Given the description of an element on the screen output the (x, y) to click on. 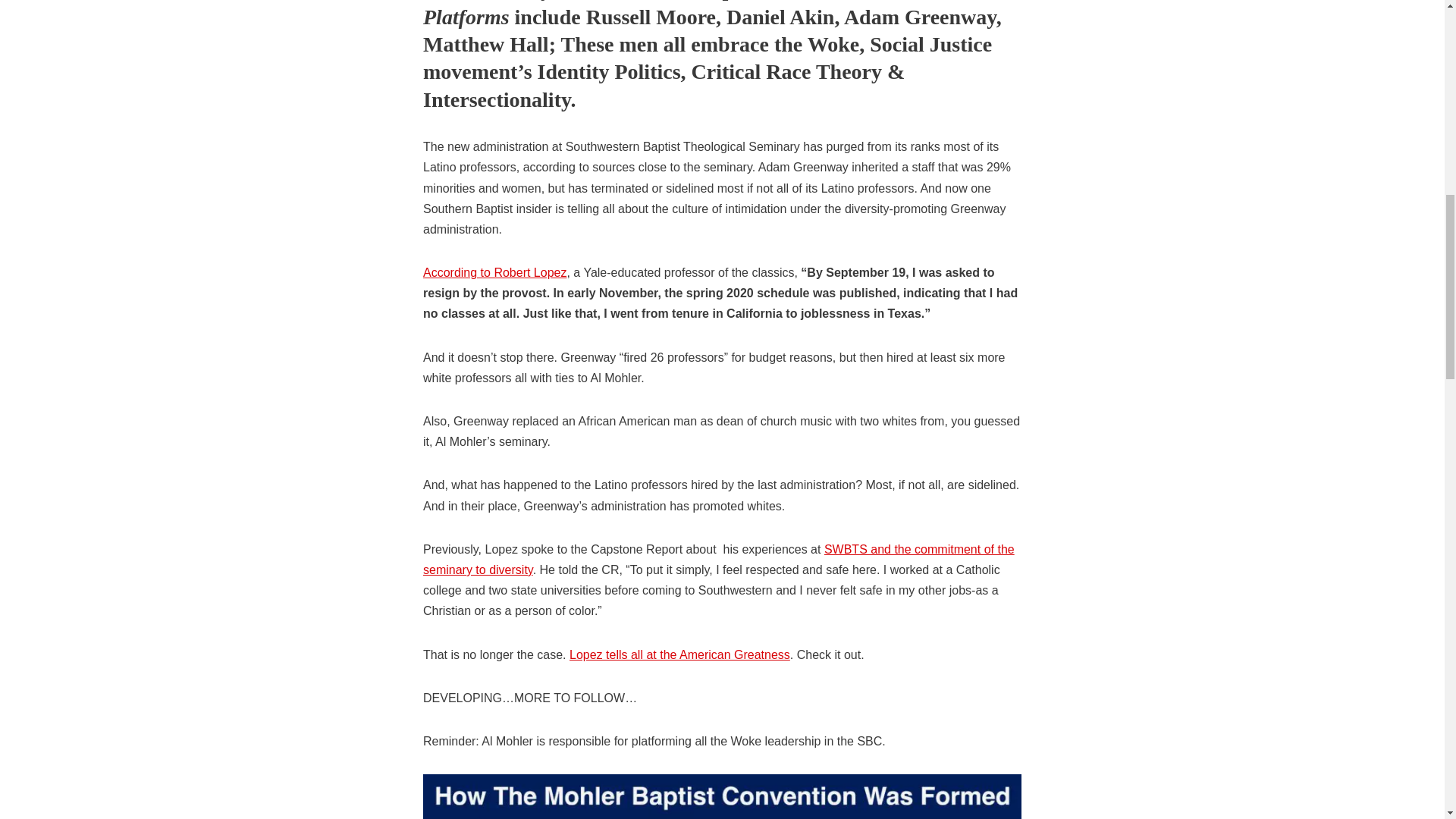
SWBTS and the commitment of the seminary to diversity (718, 559)
Lopez tells all at the American Greatness (679, 654)
According to Robert Lopez (494, 272)
